Given the description of an element on the screen output the (x, y) to click on. 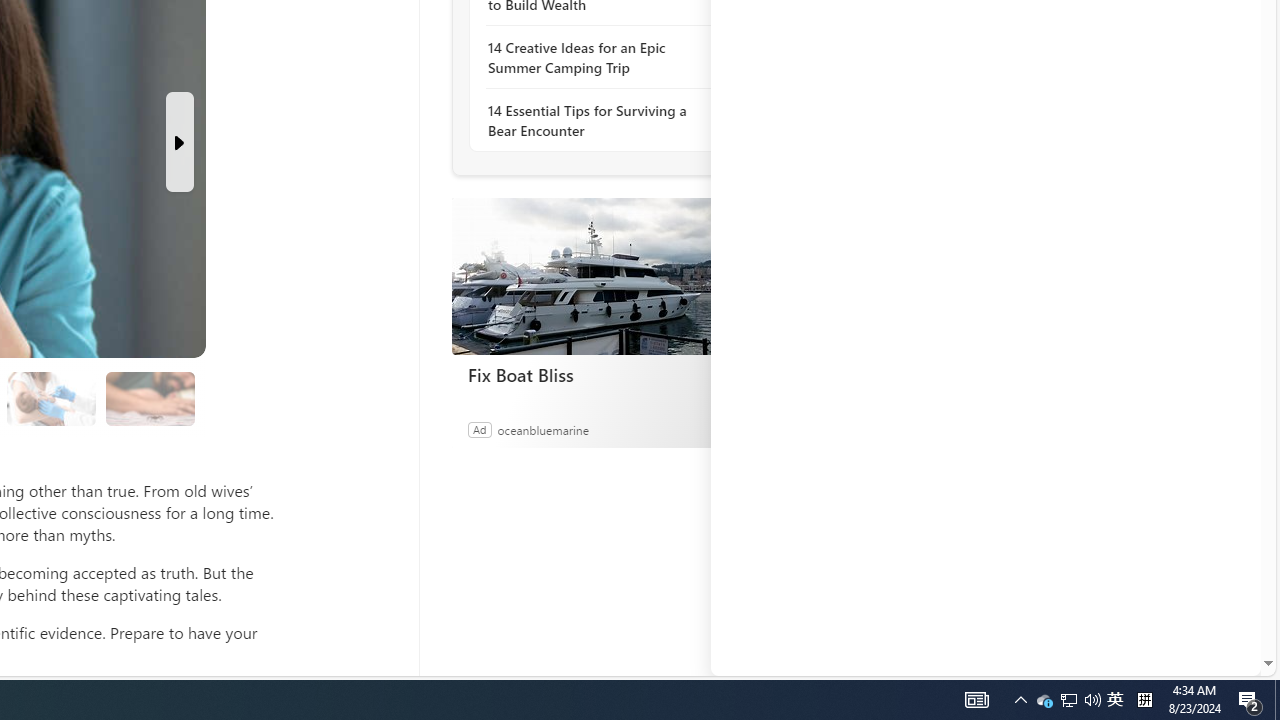
12. Invest in a Spider Catcher (149, 399)
Fix Boat Bliss (601, 374)
Next Slide (179, 142)
14 Essential Tips for Surviving a Bear Encounter (596, 120)
Fix Boat Bliss (601, 276)
14 Creative Ideas for an Epic Summer Camping Trip (596, 57)
12. Invest in a Spider Catcher (150, 398)
5. Childhood Was High-Risk (51, 399)
Class: progress (149, 394)
oceanbluemarine (542, 429)
